Given the description of an element on the screen output the (x, y) to click on. 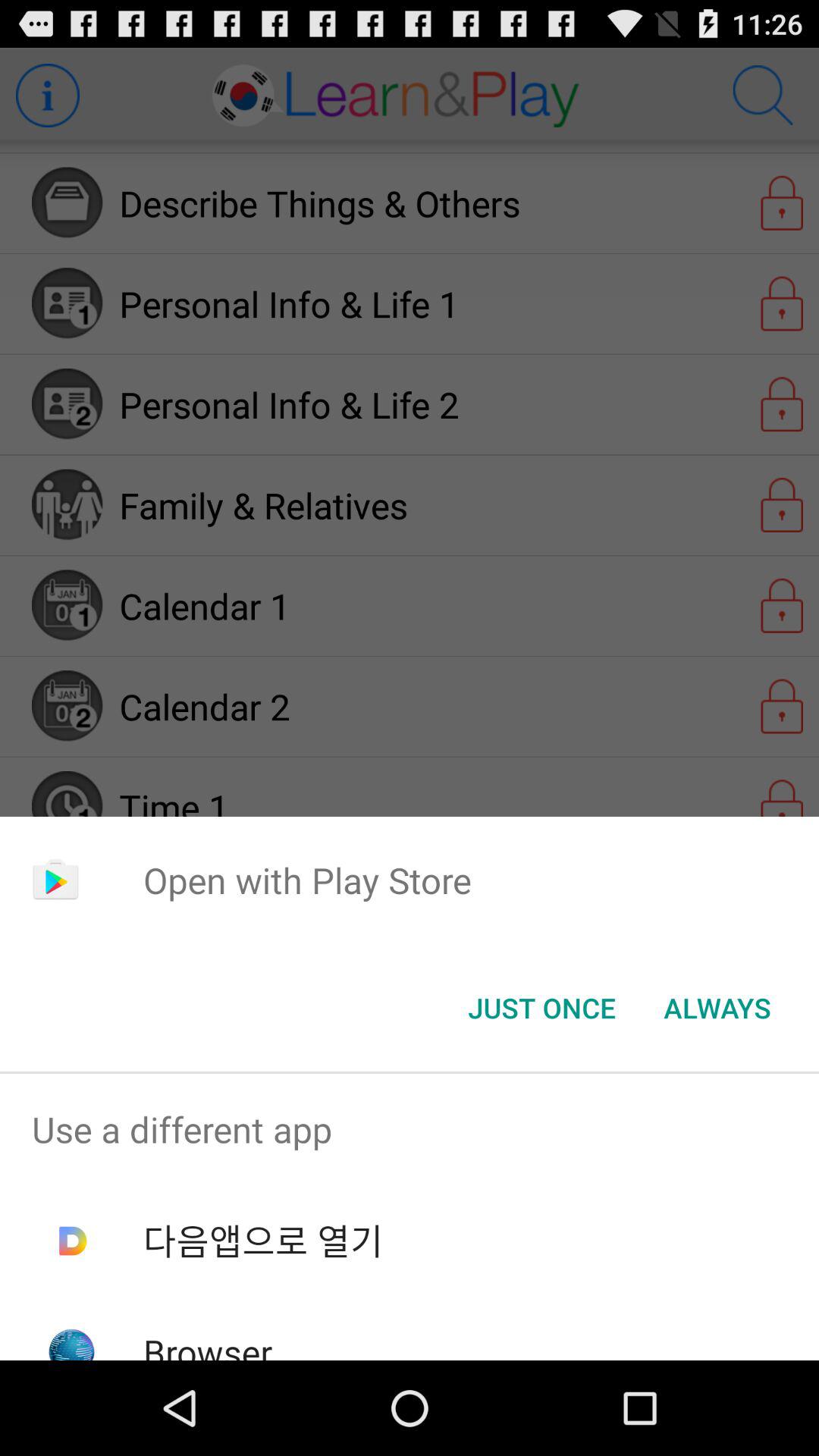
turn off item next to the always button (541, 1007)
